Given the description of an element on the screen output the (x, y) to click on. 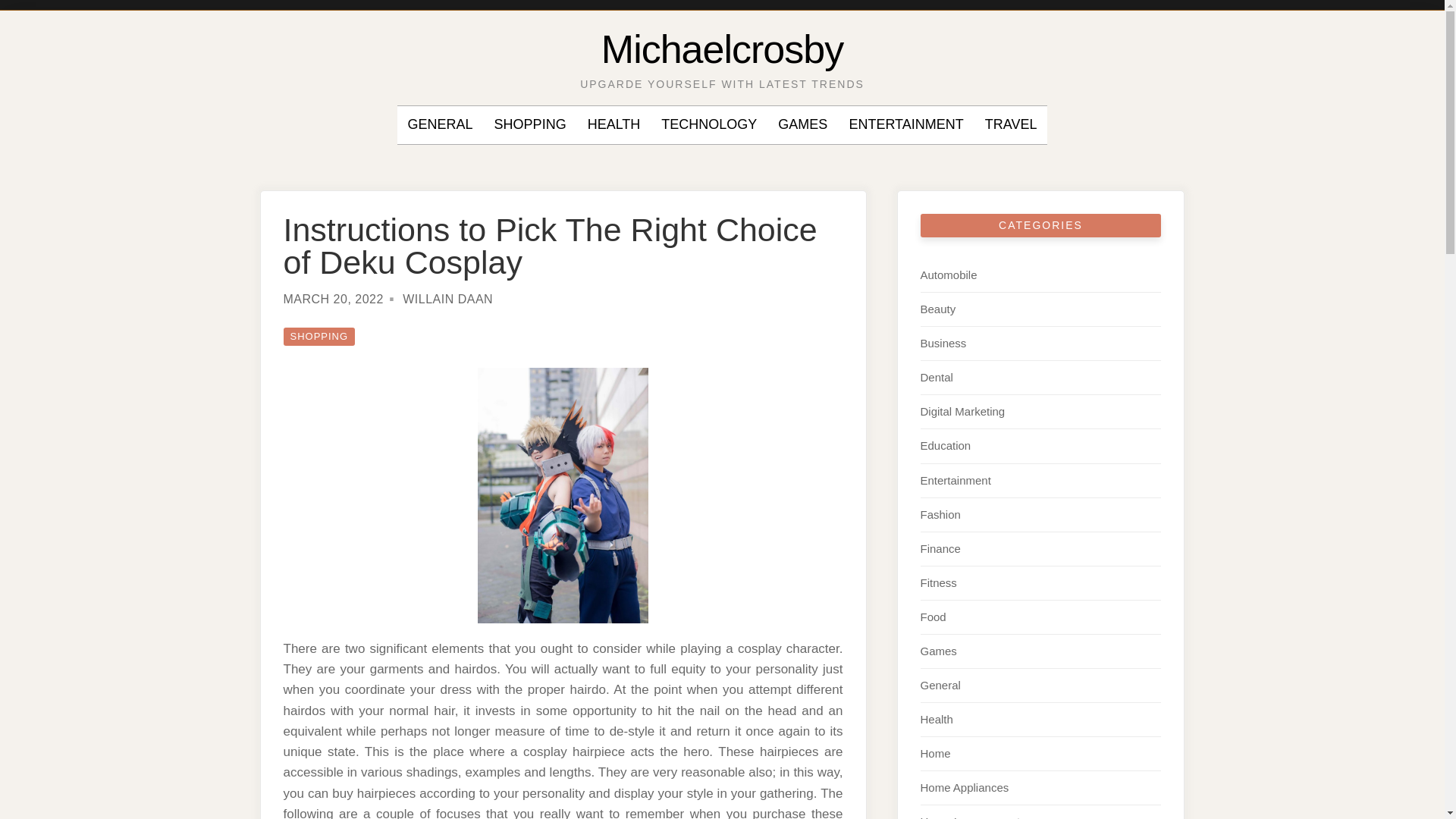
Michaelcrosby (722, 49)
Home (935, 753)
Business (943, 342)
Beauty (938, 308)
Dental (936, 377)
TRAVEL (1010, 125)
Food (933, 616)
HEALTH (614, 125)
Finance (940, 548)
Home Improvement (970, 816)
Automobile (948, 274)
Fitness (938, 582)
Fashion (940, 513)
Entertainment (955, 479)
GAMES (802, 125)
